Given the description of an element on the screen output the (x, y) to click on. 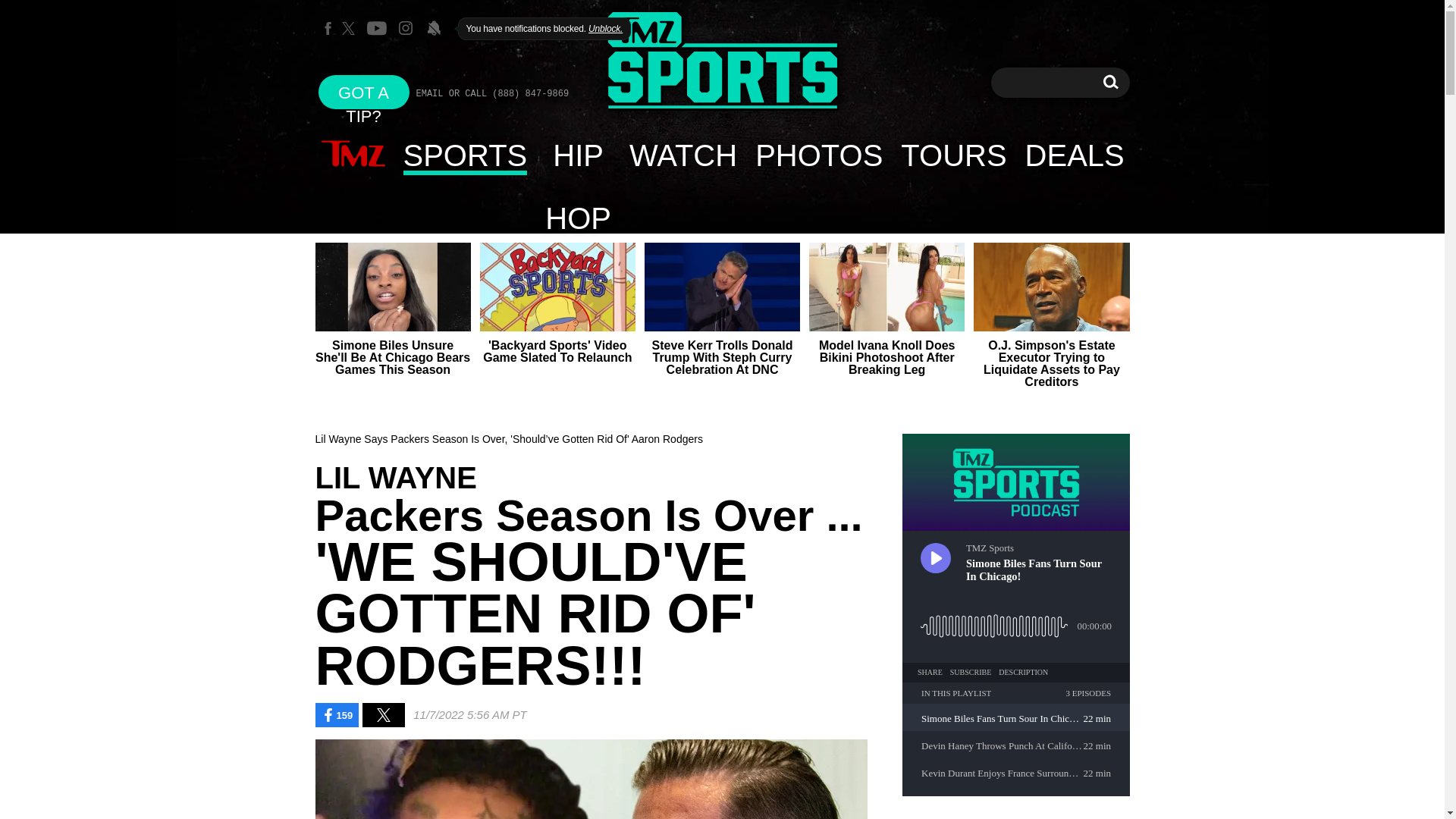
GOT A TIP? (363, 91)
NEWS (353, 154)
TMZ Sports (722, 62)
SPORTS (465, 154)
Search (1110, 81)
PHOTOS (818, 154)
DEALS (1075, 154)
HIP HOP (1110, 82)
TOURS (577, 154)
